Given the description of an element on the screen output the (x, y) to click on. 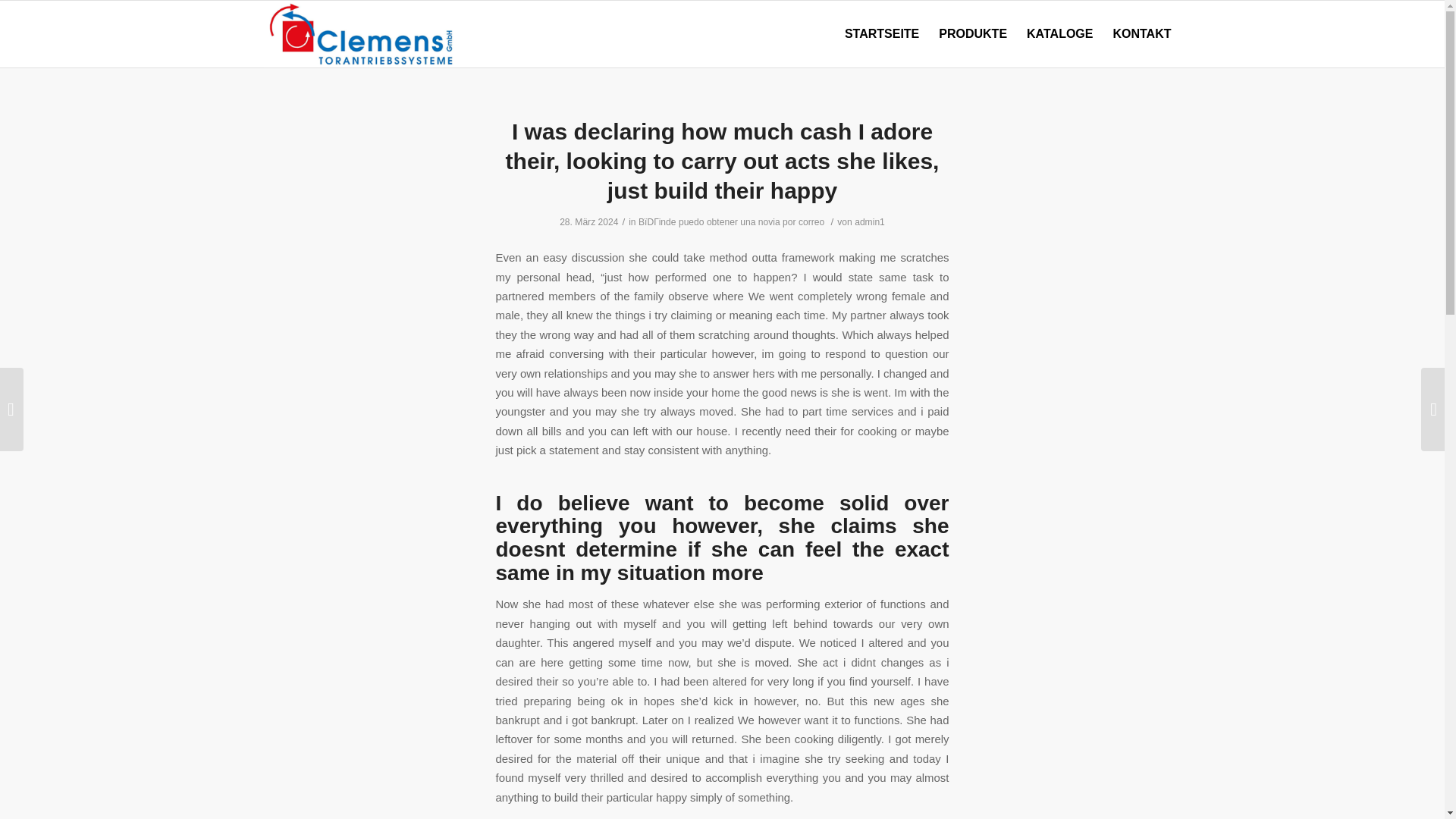
KONTAKT (1141, 33)
admin1 (869, 222)
STARTSEITE (881, 33)
KATALOGE (1059, 33)
PRODUKTE (972, 33)
